Given the description of an element on the screen output the (x, y) to click on. 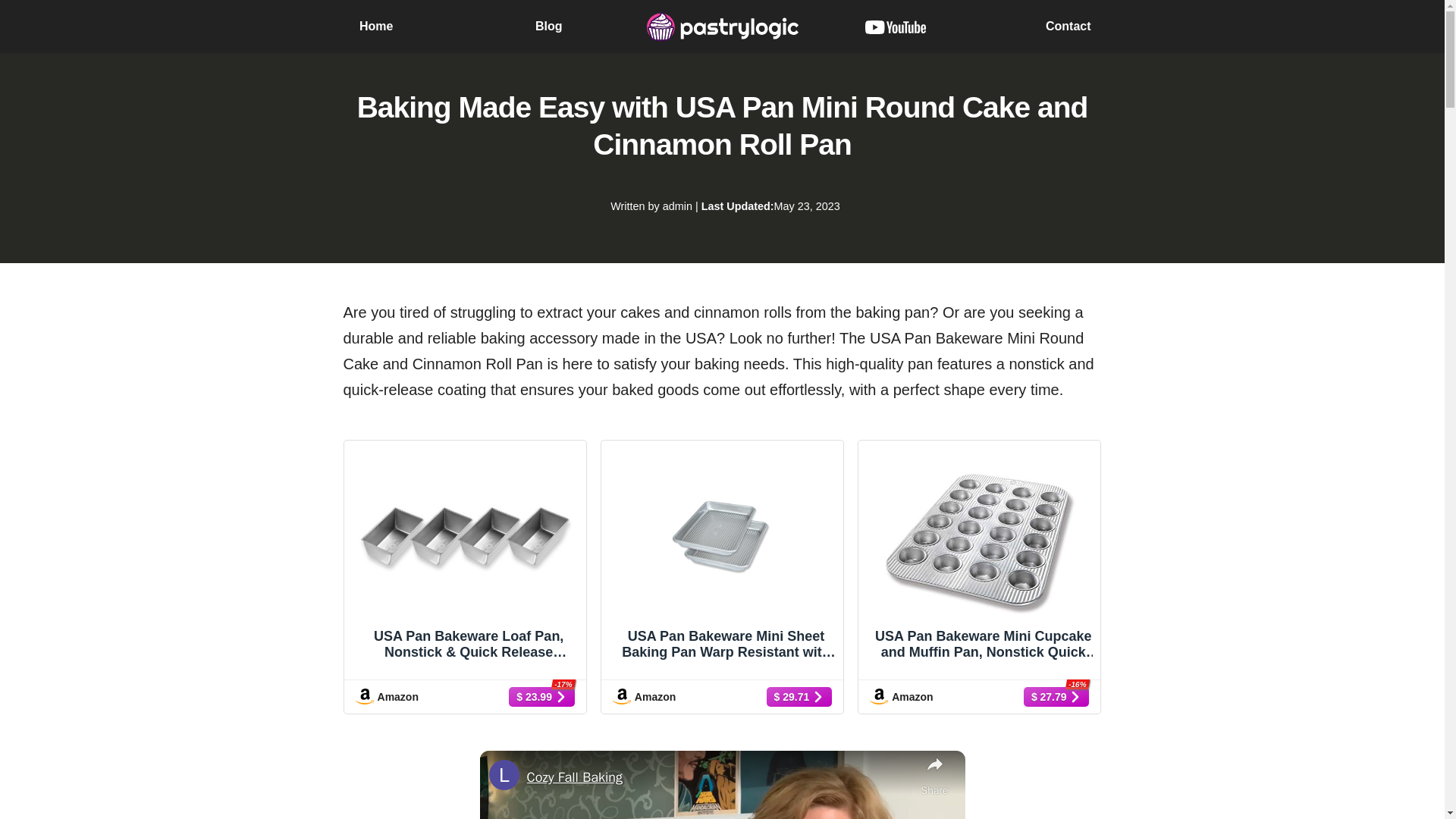
Pastrylogic.com (721, 26)
Cozy Fall Baking (718, 777)
Blog (548, 25)
Contact (1067, 25)
Home (376, 25)
